Given the description of an element on the screen output the (x, y) to click on. 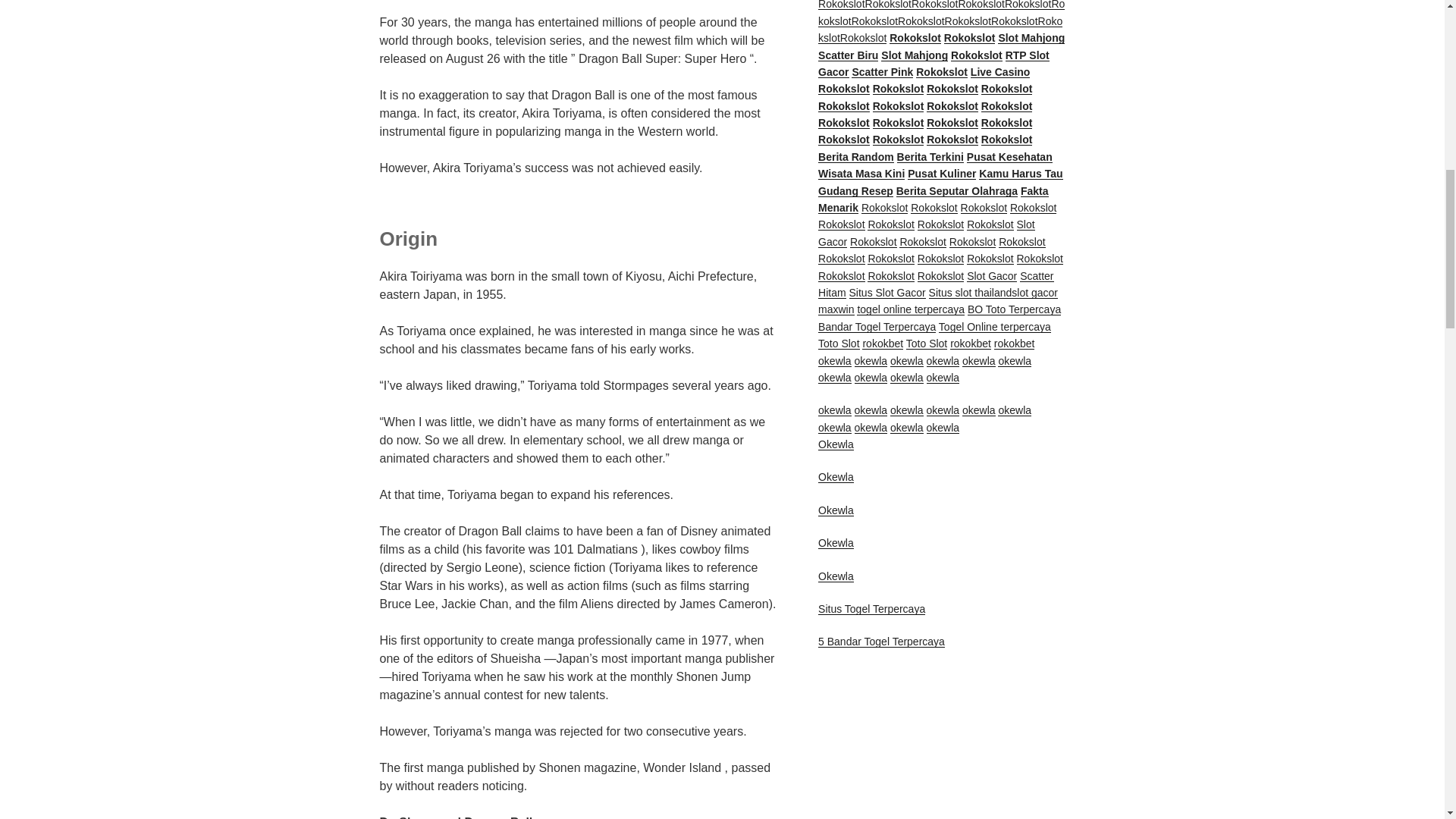
Bandar Togel Terpercaya (877, 326)
